Given the description of an element on the screen output the (x, y) to click on. 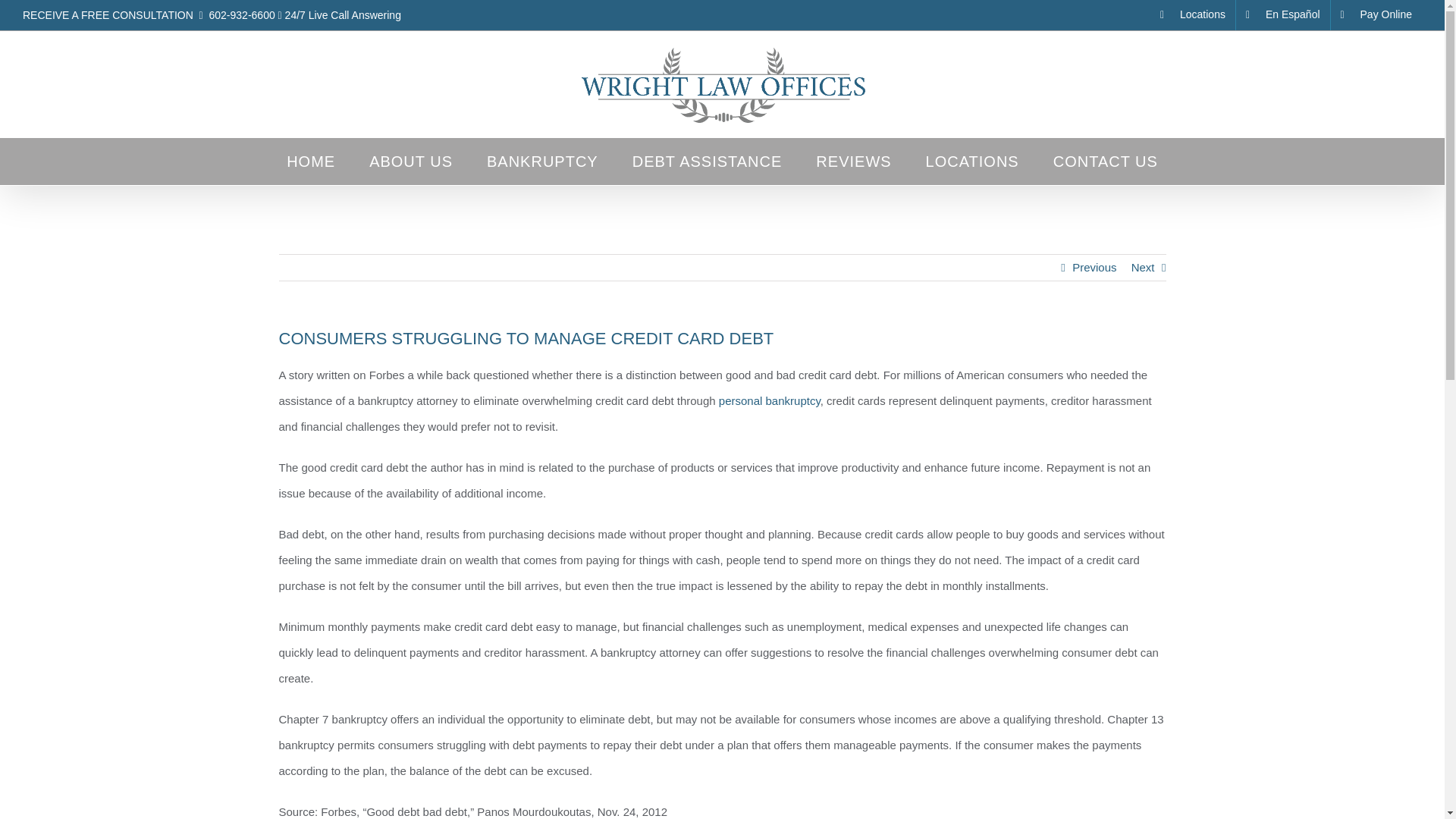
602-932-6600 (242, 15)
ABOUT US (410, 161)
REVIEWS (853, 161)
LOCATIONS (972, 161)
DEBT ASSISTANCE (707, 161)
CONTACT US (1104, 161)
Locations (1192, 15)
BANKRUPTCY (542, 161)
Pay Online (1376, 15)
HOME (310, 161)
